Given the description of an element on the screen output the (x, y) to click on. 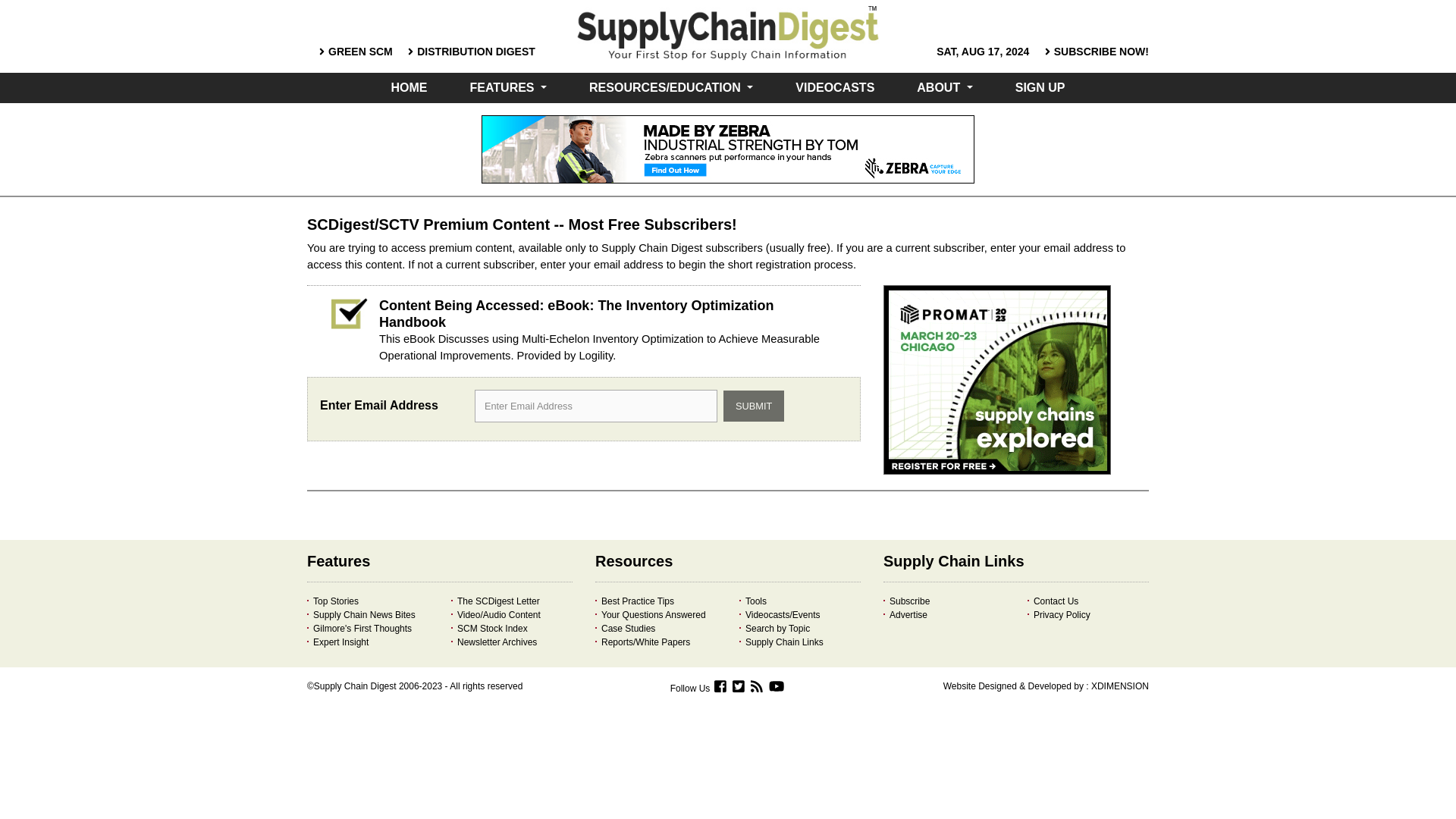
Gilmore's First Thoughts (359, 628)
FEATURES (508, 87)
Expert Insight (337, 642)
Top Stories (332, 601)
The SCDigest Letter (495, 601)
ABOUT (944, 87)
SCM Stock Index (489, 628)
SUBSCRIBE NOW! (1101, 51)
SUBMIT (753, 405)
VIDEOCASTS (834, 87)
